Given the description of an element on the screen output the (x, y) to click on. 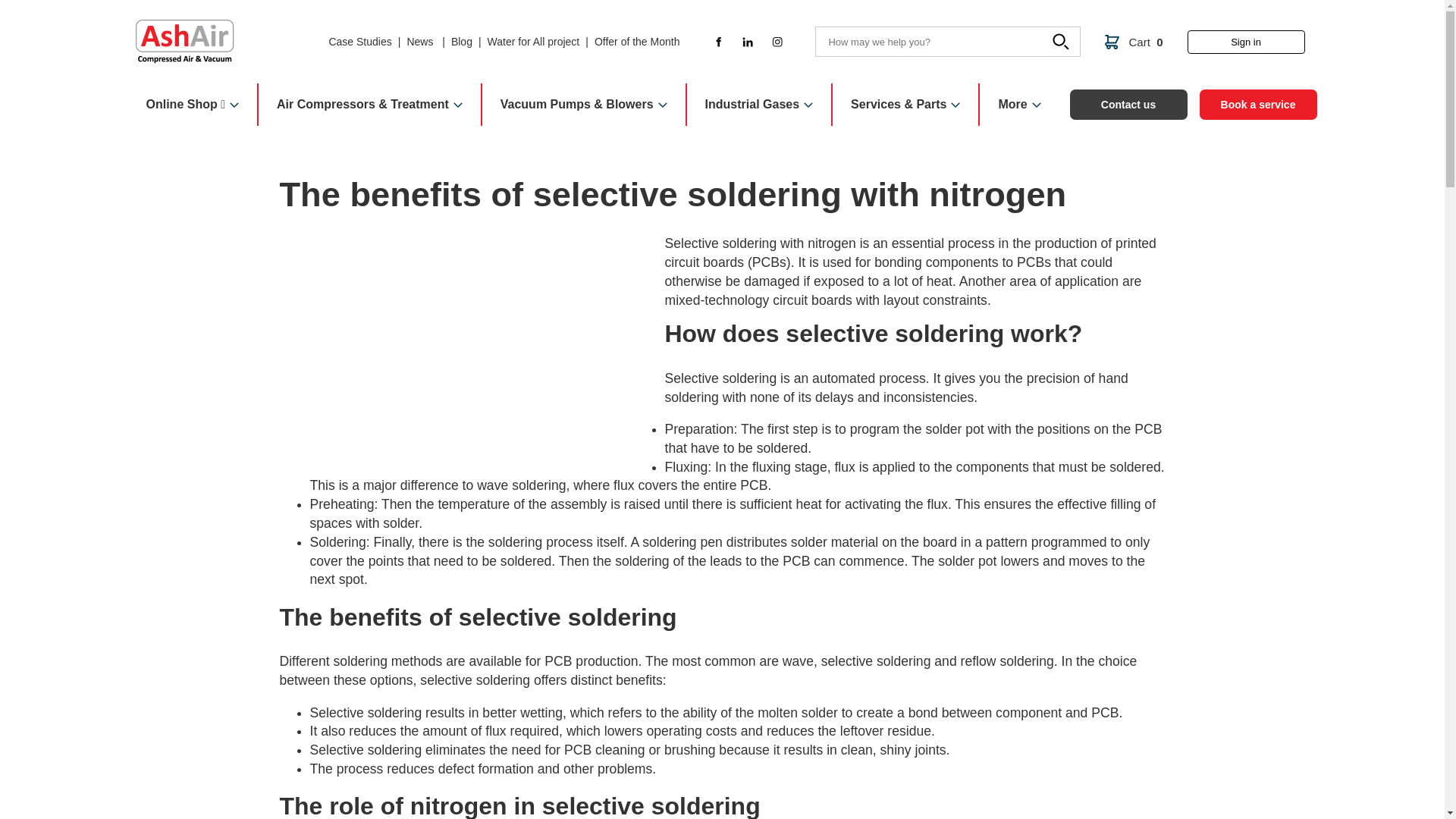
Water for All project (533, 41)
Nationwide Services (905, 104)
Case Studies (360, 41)
Facebook (717, 41)
Sign in (1246, 42)
Instagram (776, 41)
Search Icon (1062, 43)
News  (420, 41)
Returning customers login (1246, 42)
View your shopping cart (1133, 42)
